Given the description of an element on the screen output the (x, y) to click on. 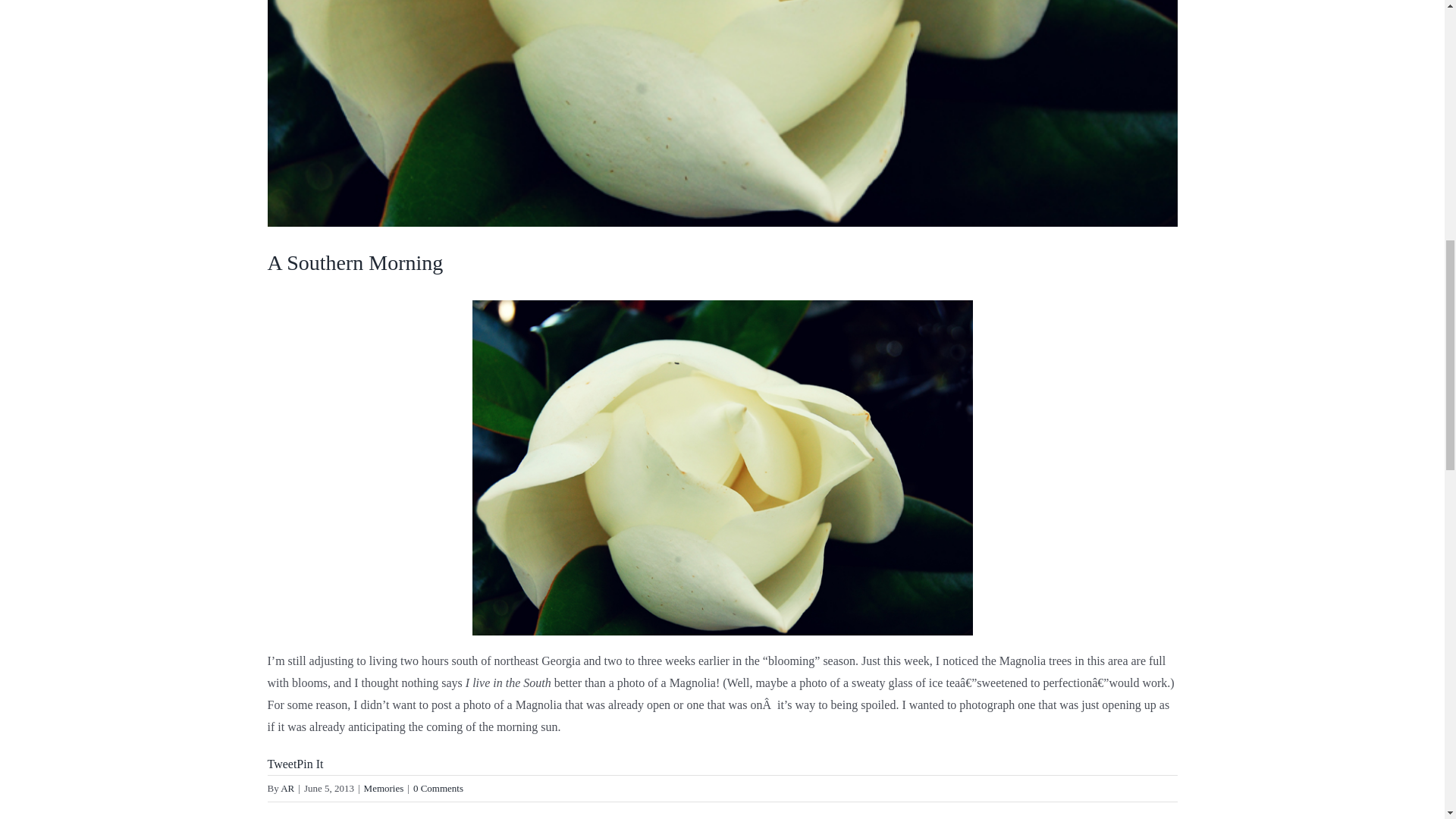
0 Comments (438, 787)
Memories (384, 787)
AR (287, 787)
Tweet (281, 763)
Posts by AR (287, 787)
Pin It (310, 763)
